Given the description of an element on the screen output the (x, y) to click on. 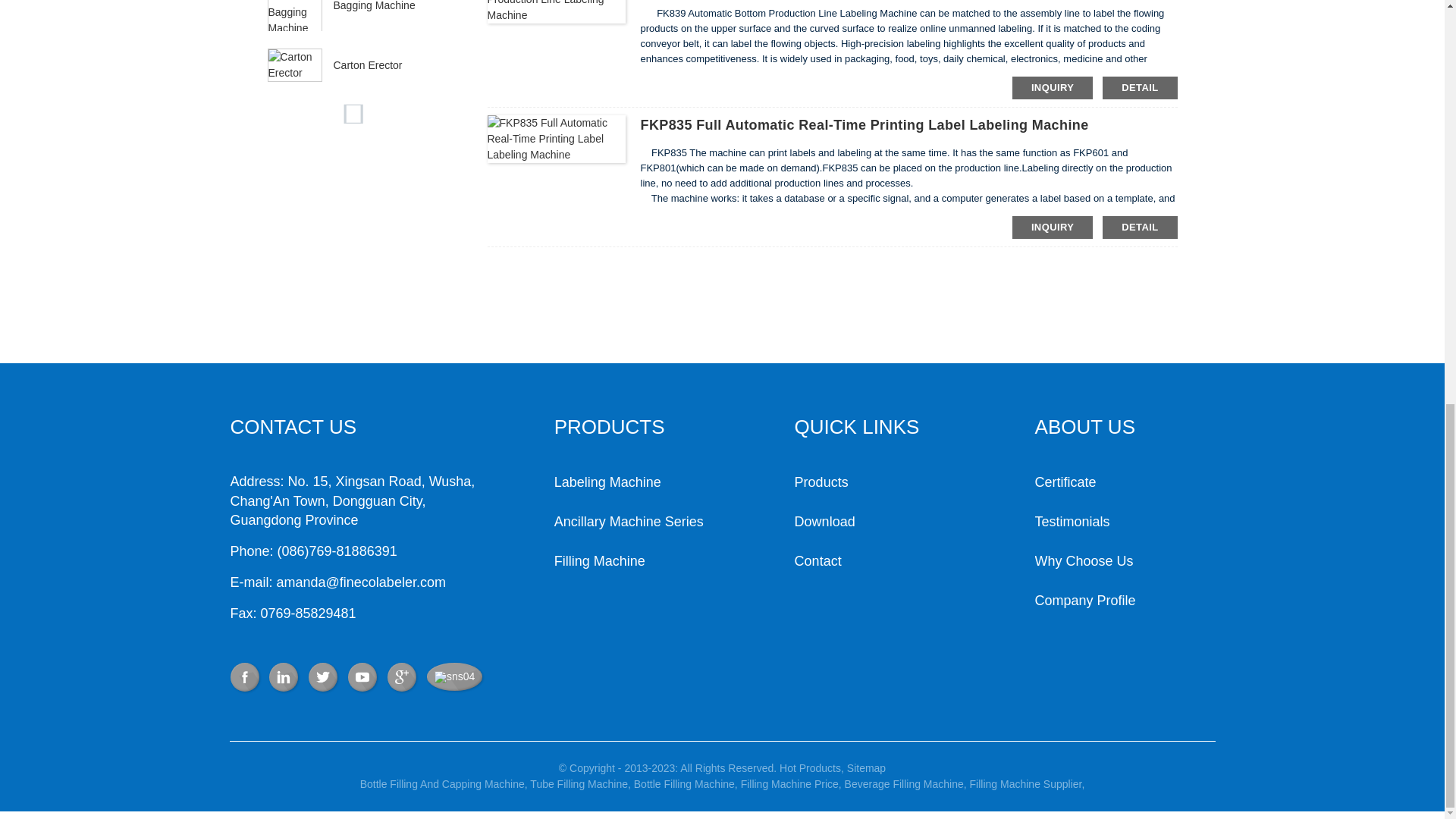
Filling Machine Price (789, 784)
Bottle Filling Machine (684, 784)
Tube Filling Machine (578, 784)
Filling Machine Supplier (1025, 784)
Bottle Filling And Capping Machine (441, 784)
Beverage Filling Machine (903, 784)
